Given the description of an element on the screen output the (x, y) to click on. 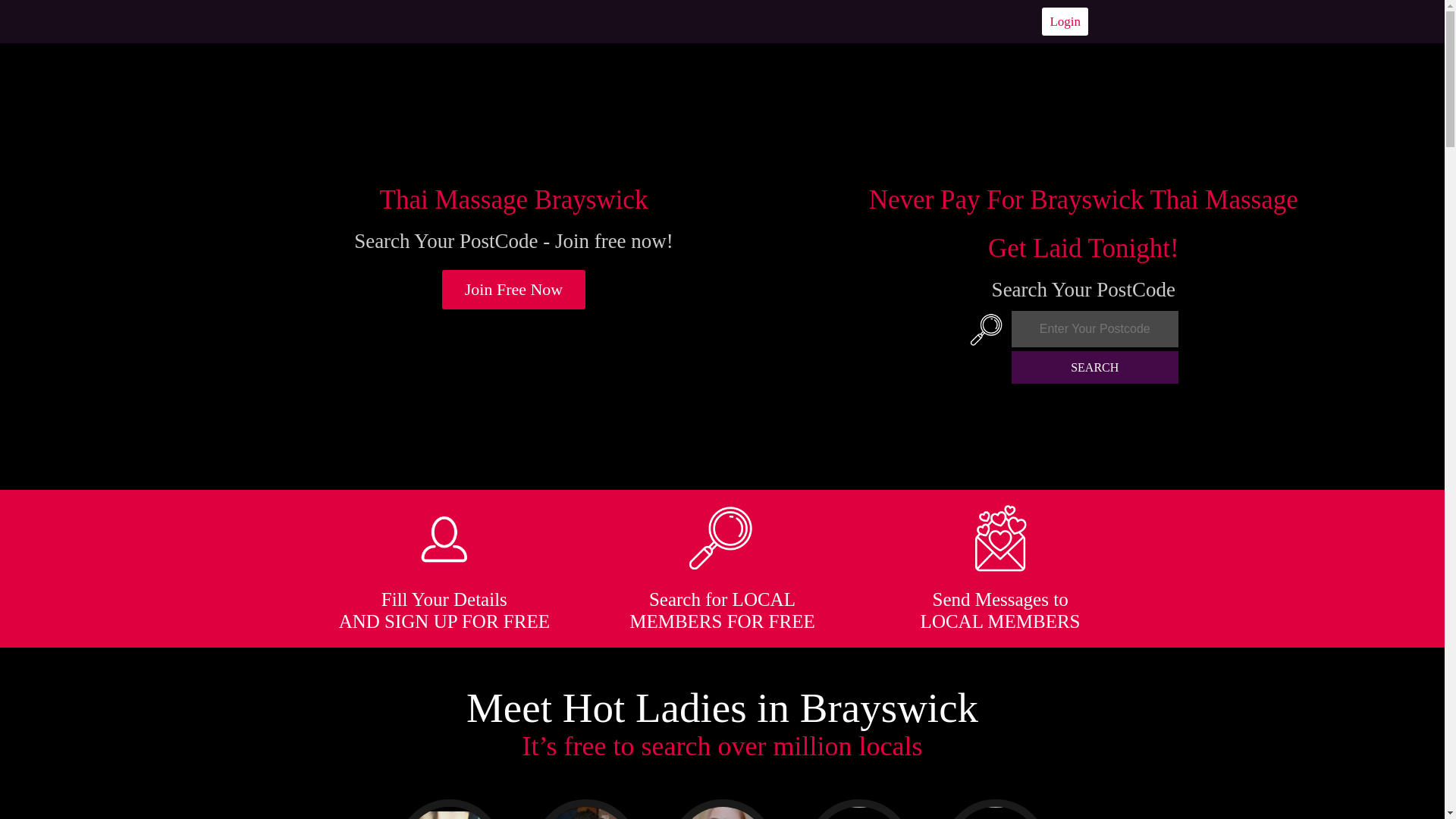
Join (514, 289)
Login (1064, 21)
Join Free Now (514, 289)
SEARCH (1094, 367)
Login (1064, 21)
